Given the description of an element on the screen output the (x, y) to click on. 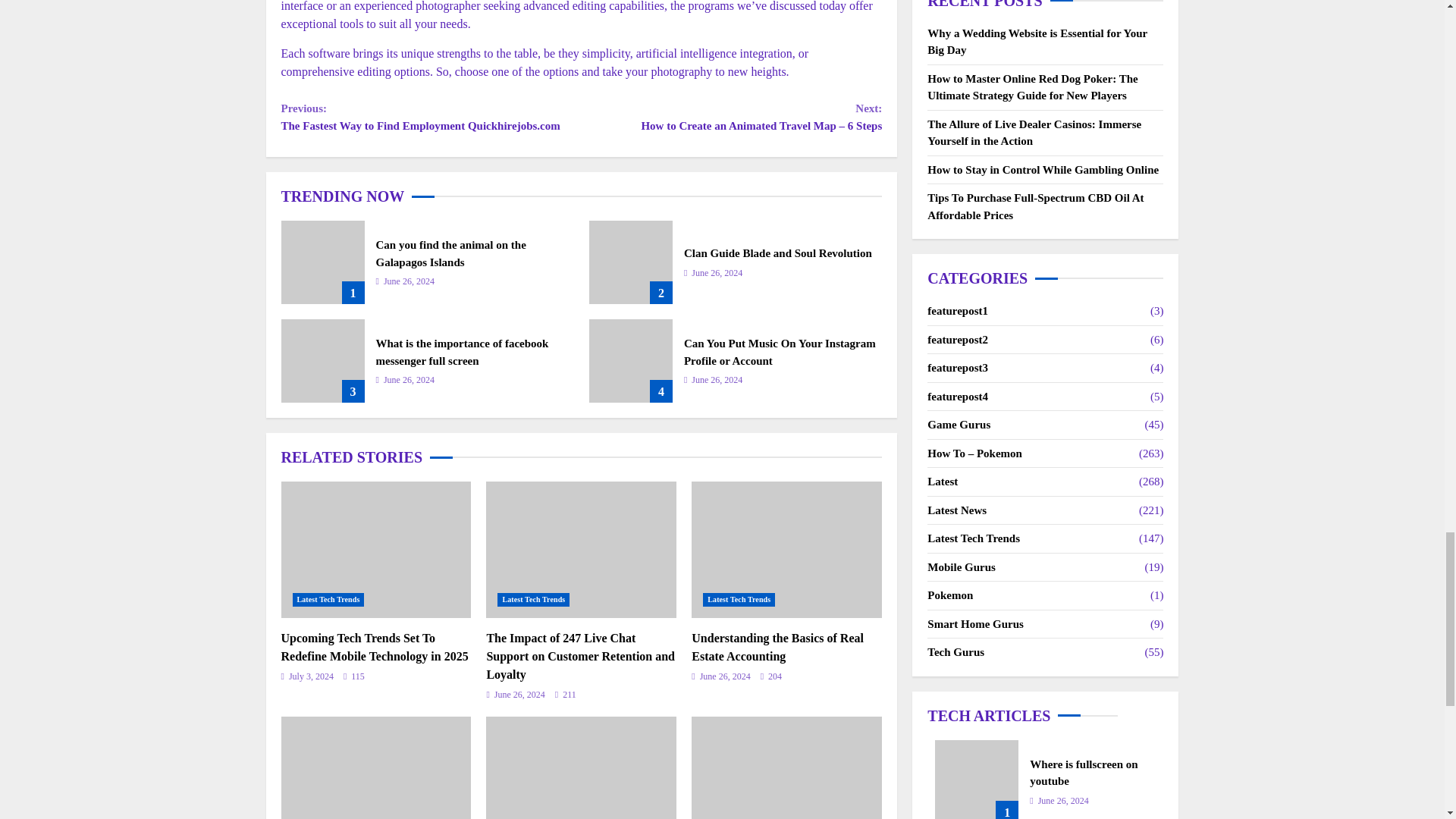
Can you find the animal on the Galapagos Islands (450, 253)
What is the importance of facebook messenger full screen (461, 351)
115 (354, 676)
Latest Tech Trends (328, 599)
Can You Put Music On Your Instagram Profile or Account (630, 360)
Clan Guide Blade and Soul Revolution (778, 253)
What is the importance of facebook messenger full screen (322, 360)
Can You Put Music On Your Instagram Profile or Account (780, 351)
Can you find the animal on the Galapagos Islands (322, 261)
Clan Guide Blade and Soul Revolution (630, 261)
